Given the description of an element on the screen output the (x, y) to click on. 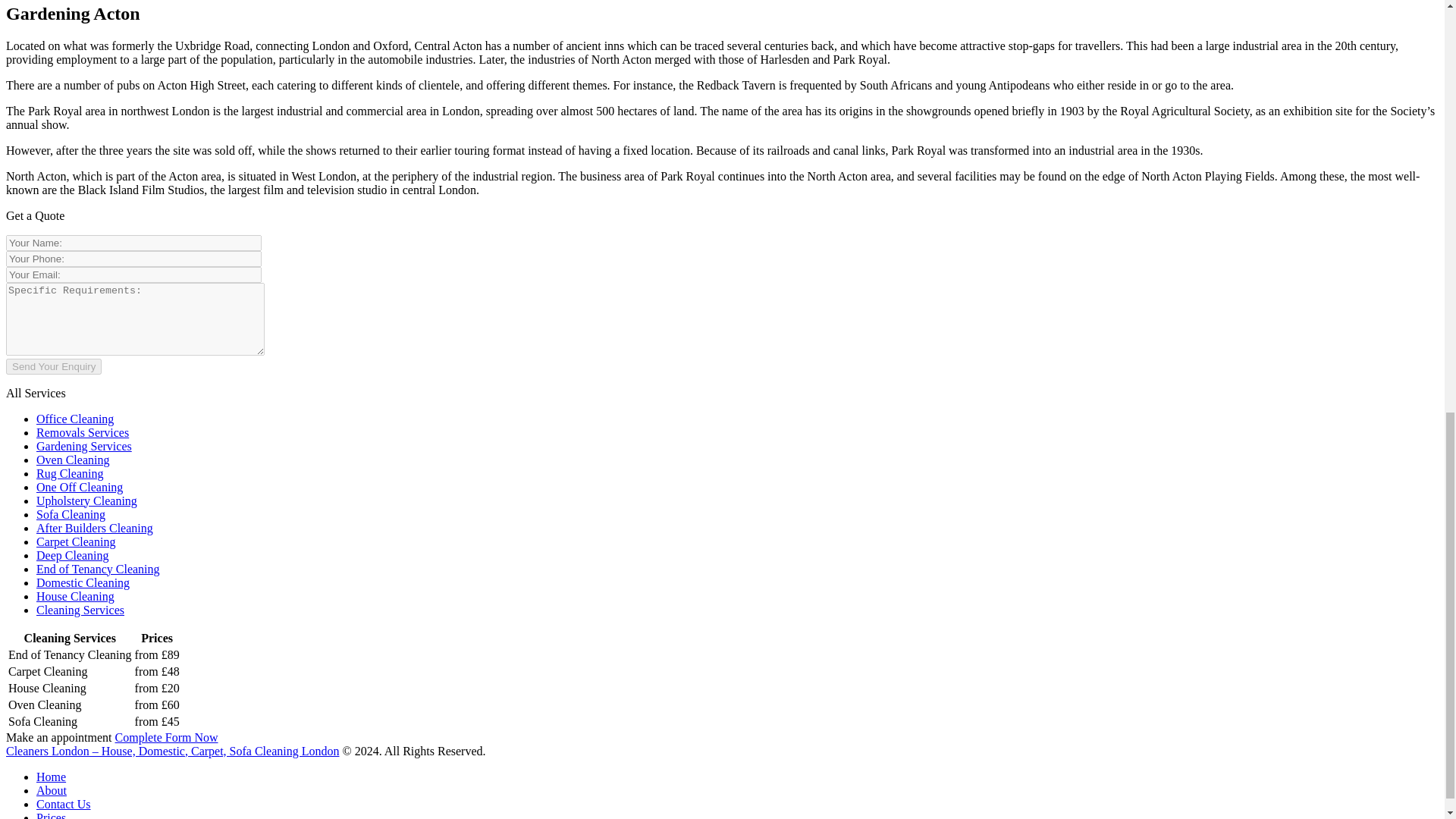
Home (50, 776)
One Off Cleaning (79, 486)
End of Tenancy Cleaning (98, 568)
Deep Cleaning (72, 554)
Sofa Cleaning (70, 513)
Carpet Cleaning (75, 541)
About (51, 789)
Upholstery Cleaning (86, 500)
House Cleaning (75, 595)
Gardening Services (84, 445)
Send Your Enquiry (53, 365)
After Builders Cleaning (94, 527)
Domestic Cleaning (82, 582)
Send Your Enquiry (53, 365)
Contact Us (63, 803)
